Given the description of an element on the screen output the (x, y) to click on. 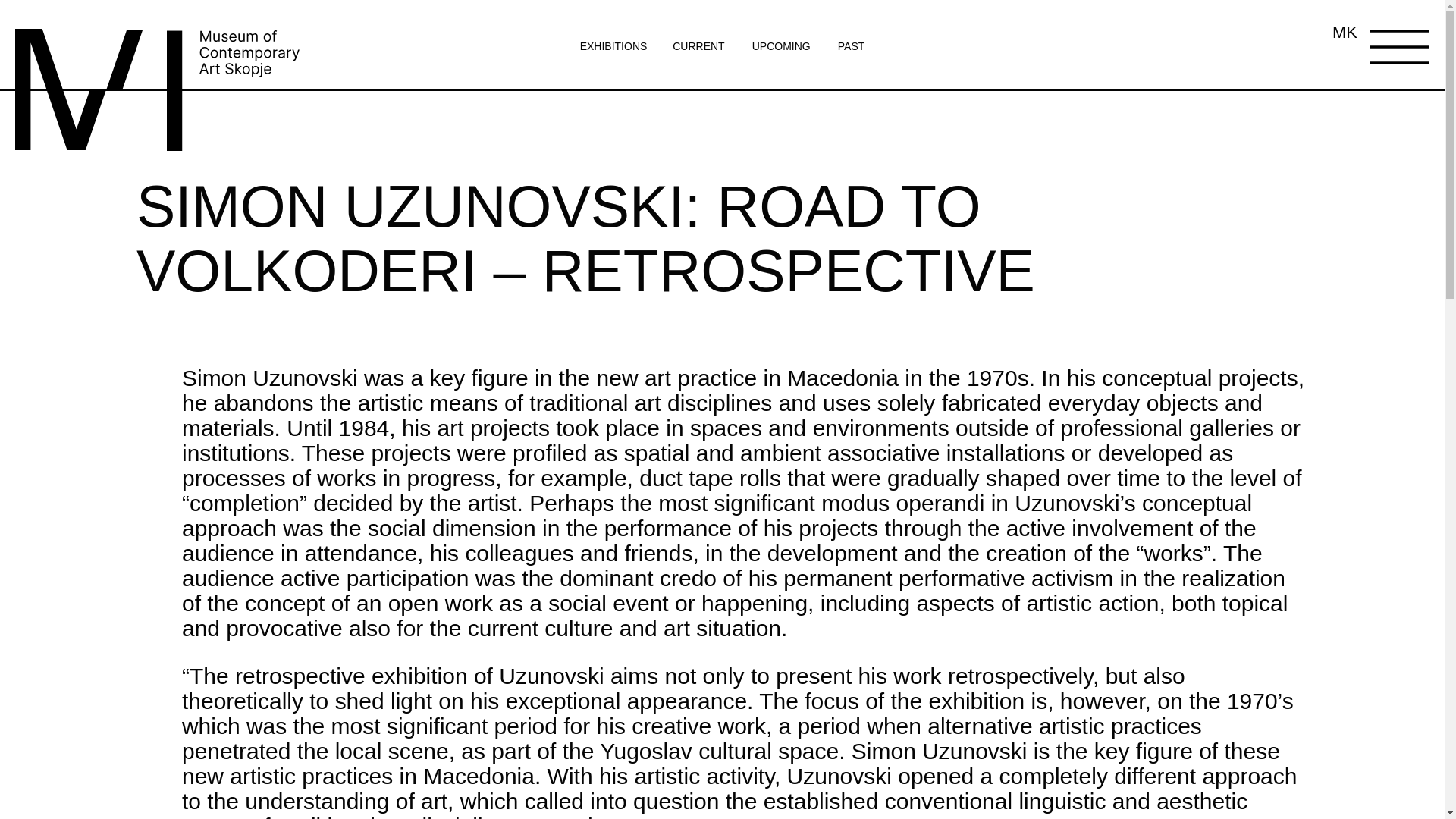
EXHIBITIONS (614, 46)
CURRENT (697, 46)
MK (1344, 33)
UPCOMING (781, 46)
PAST (851, 46)
